Given the description of an element on the screen output the (x, y) to click on. 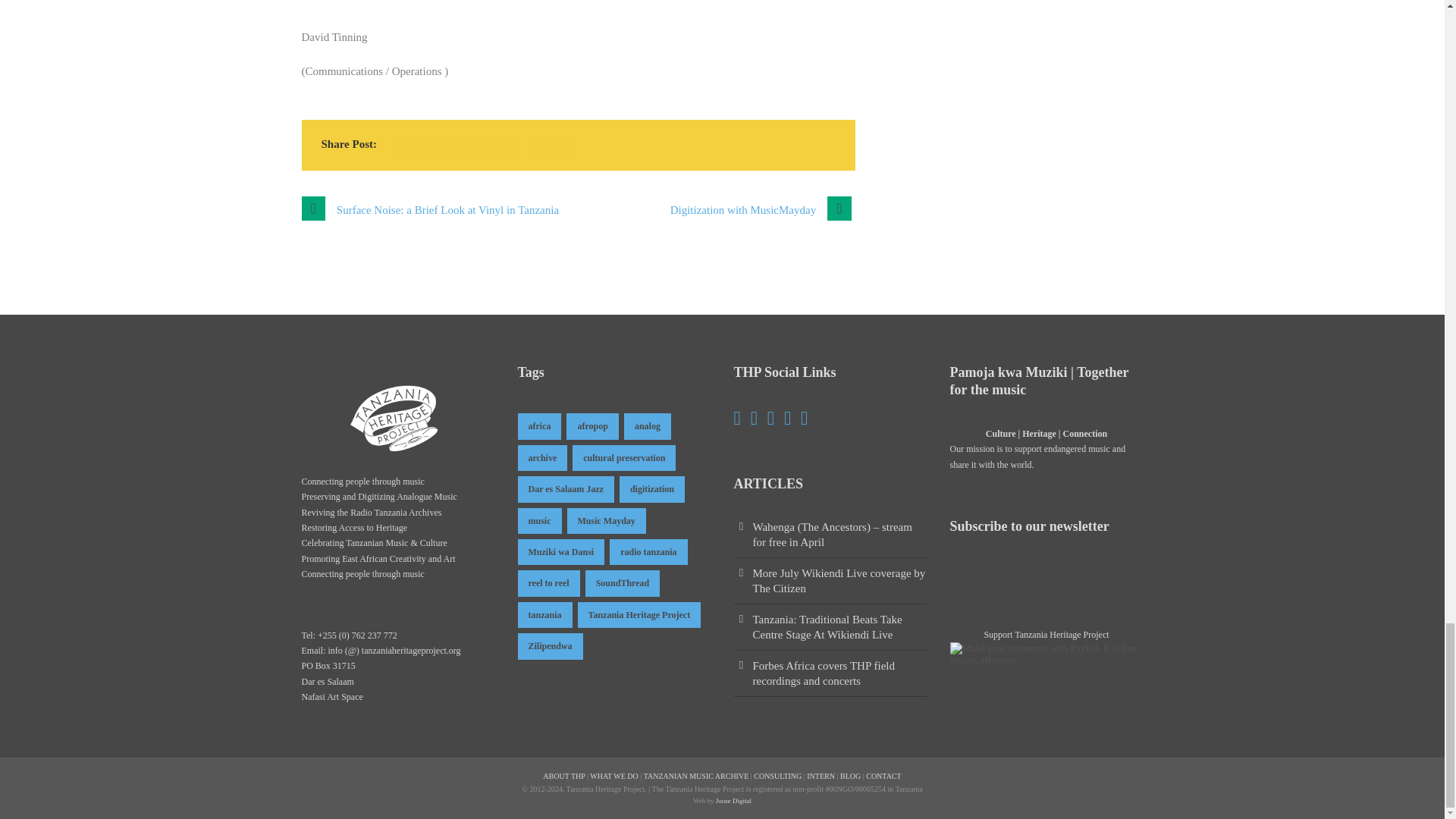
1 topic (591, 425)
1 topic (544, 614)
1 topic (648, 551)
1 topic (622, 583)
1 topic (647, 425)
1 topic (538, 520)
1 topic (541, 457)
1 topic (564, 488)
1 topic (606, 520)
1 topic (538, 425)
1 topic (547, 583)
1 topic (623, 457)
1 topic (560, 551)
1 topic (652, 488)
